Given the description of an element on the screen output the (x, y) to click on. 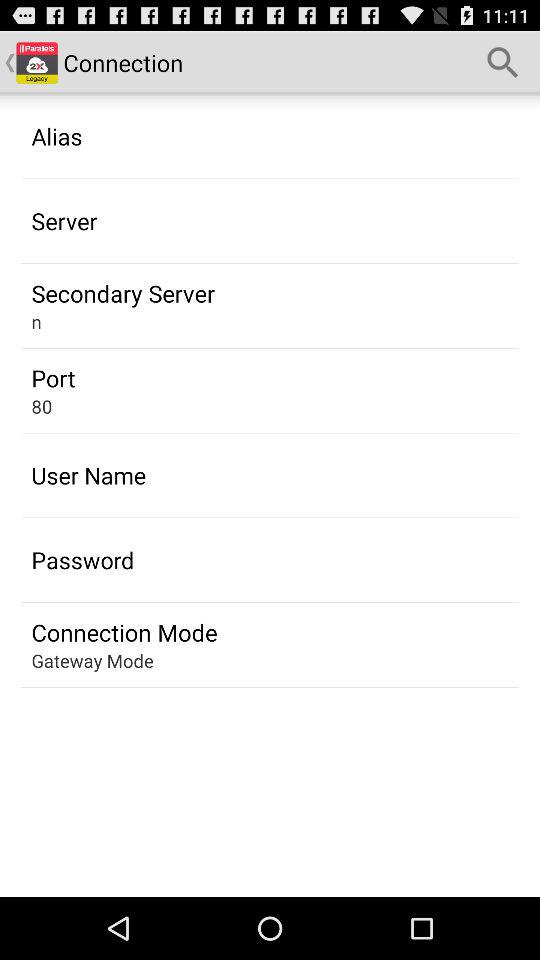
click the item below the connection mode icon (92, 660)
